Given the description of an element on the screen output the (x, y) to click on. 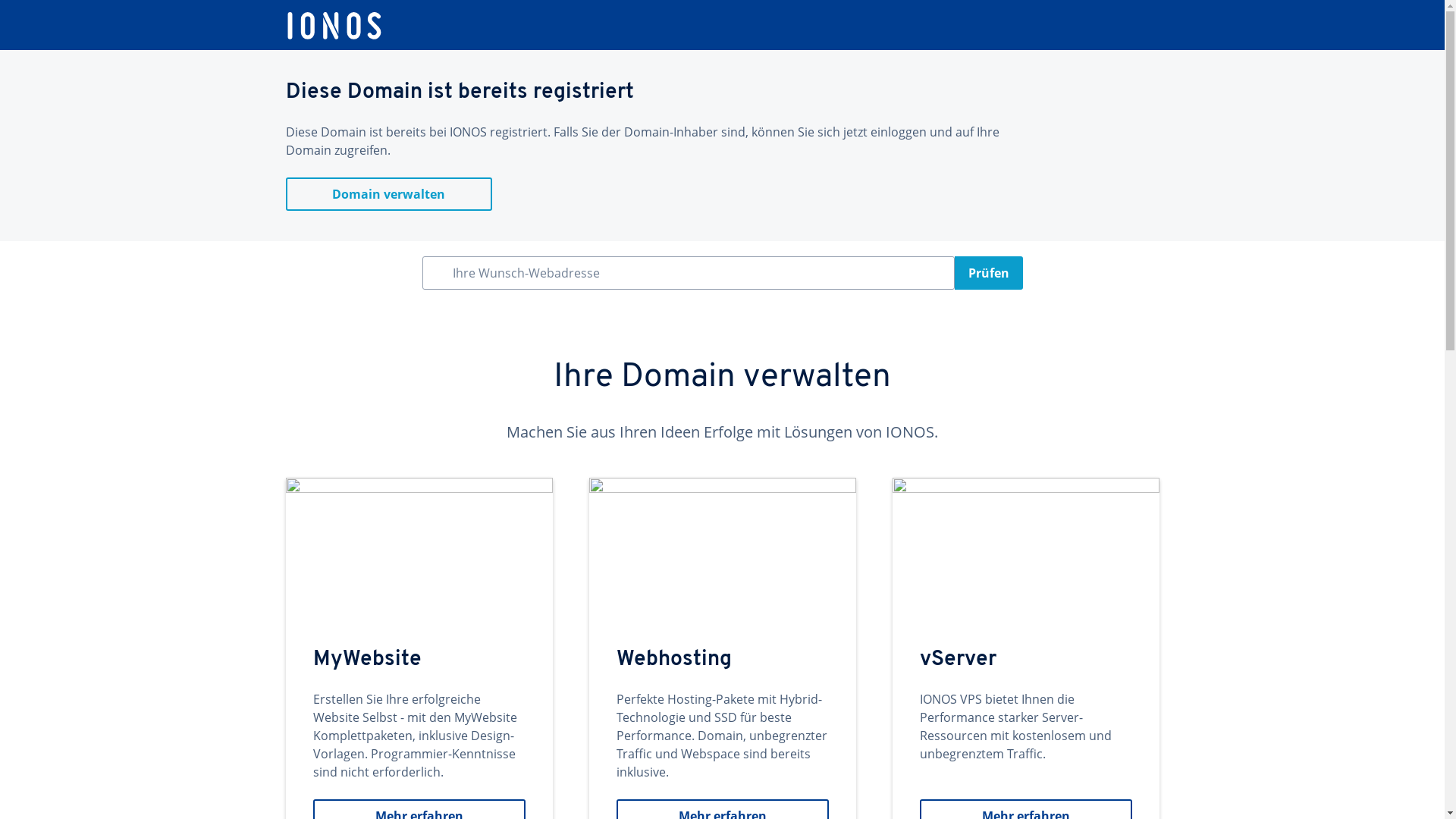
Domain verwalten Element type: text (388, 193)
